Given the description of an element on the screen output the (x, y) to click on. 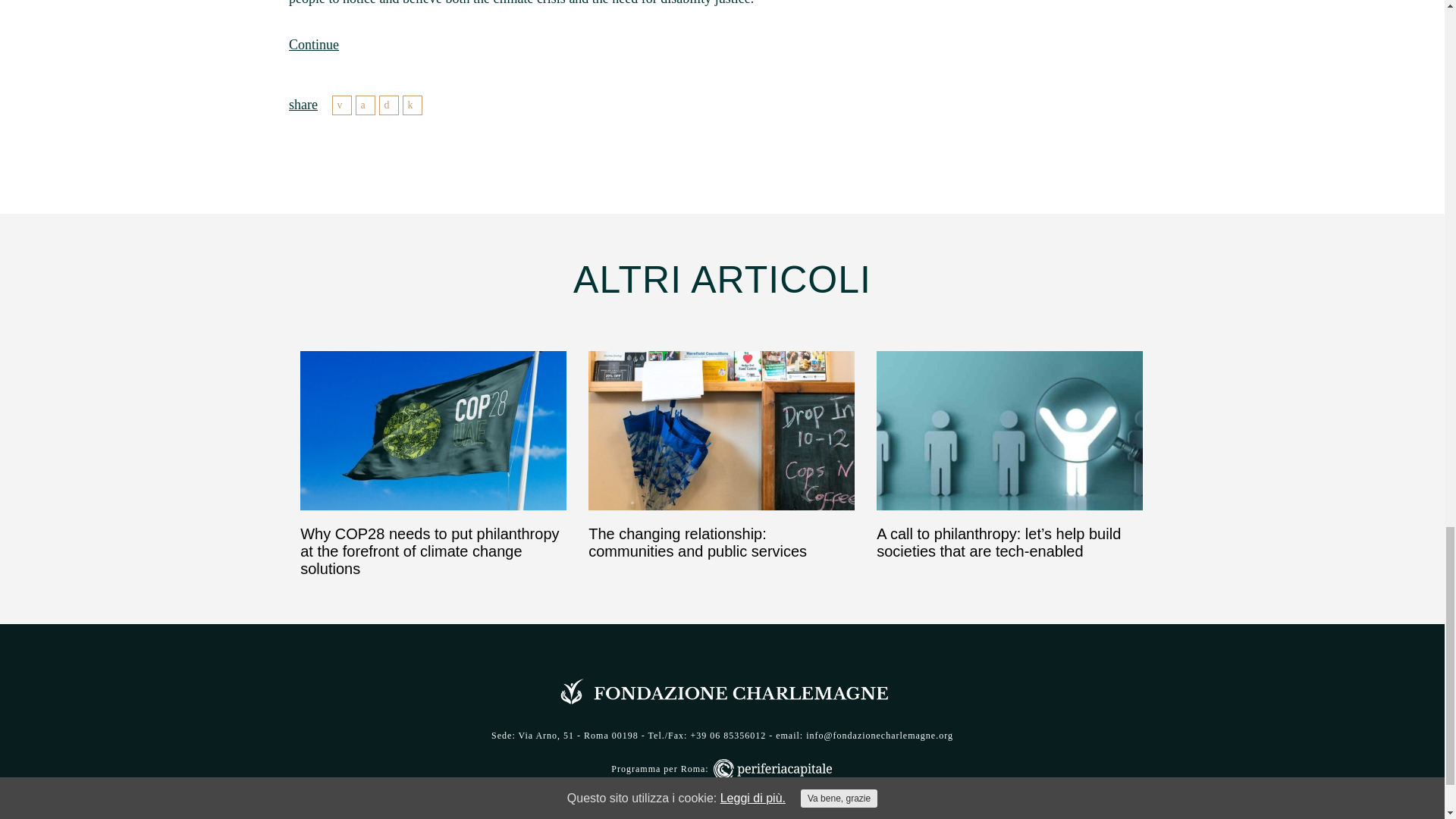
The changing relationship: communities and public services (721, 455)
Continue (313, 44)
